Given the description of an element on the screen output the (x, y) to click on. 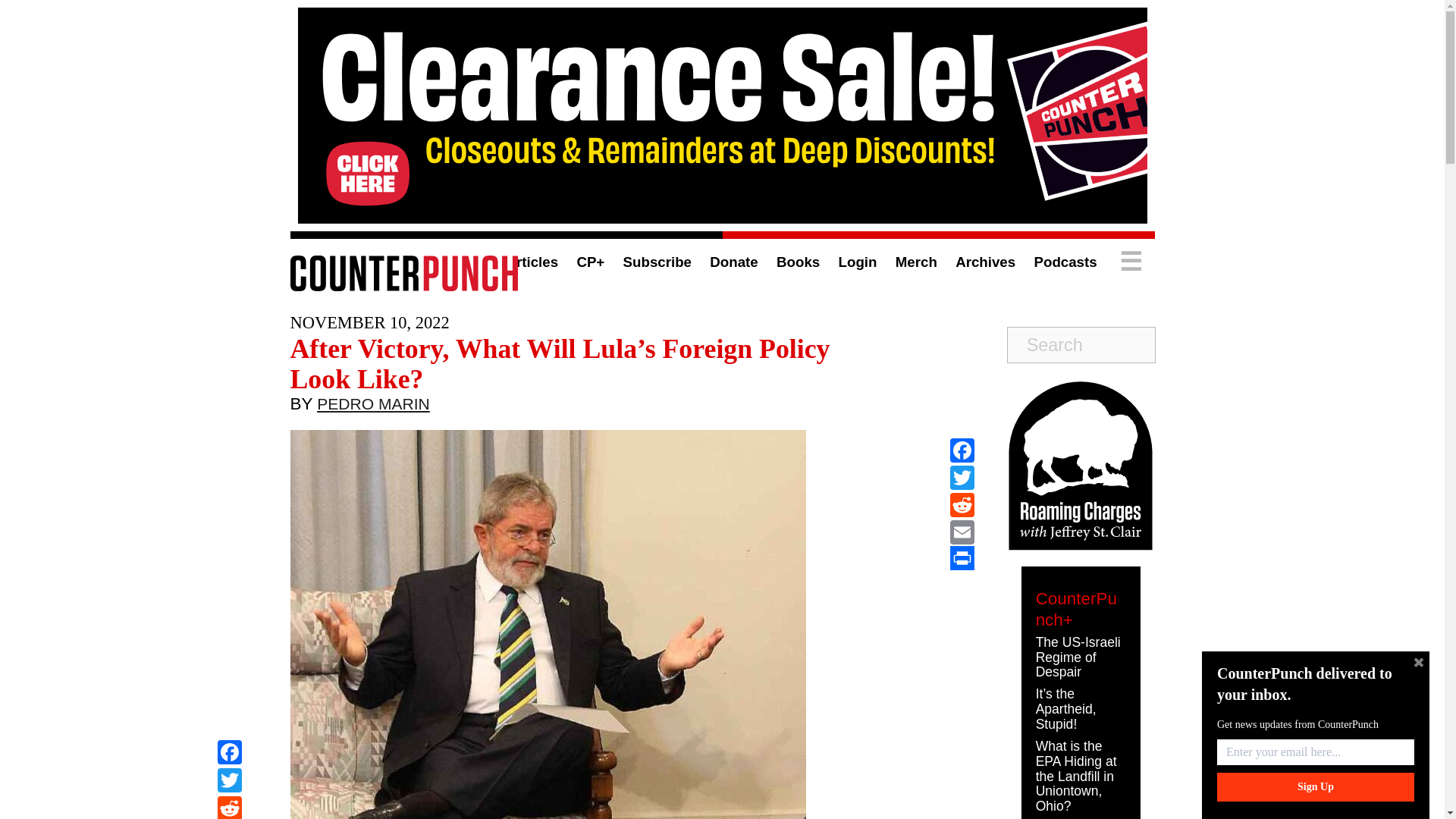
Merch (916, 261)
2022-11-10 (368, 322)
Login (857, 261)
Email (962, 532)
Articles (531, 261)
Reddit (229, 807)
Podcasts (1064, 261)
Twitter (229, 782)
Reddit (962, 504)
Facebook (962, 450)
Twitter (229, 782)
Facebook (229, 754)
Twitter (962, 477)
Reddit (229, 807)
Print This Post (962, 558)
